Given the description of an element on the screen output the (x, y) to click on. 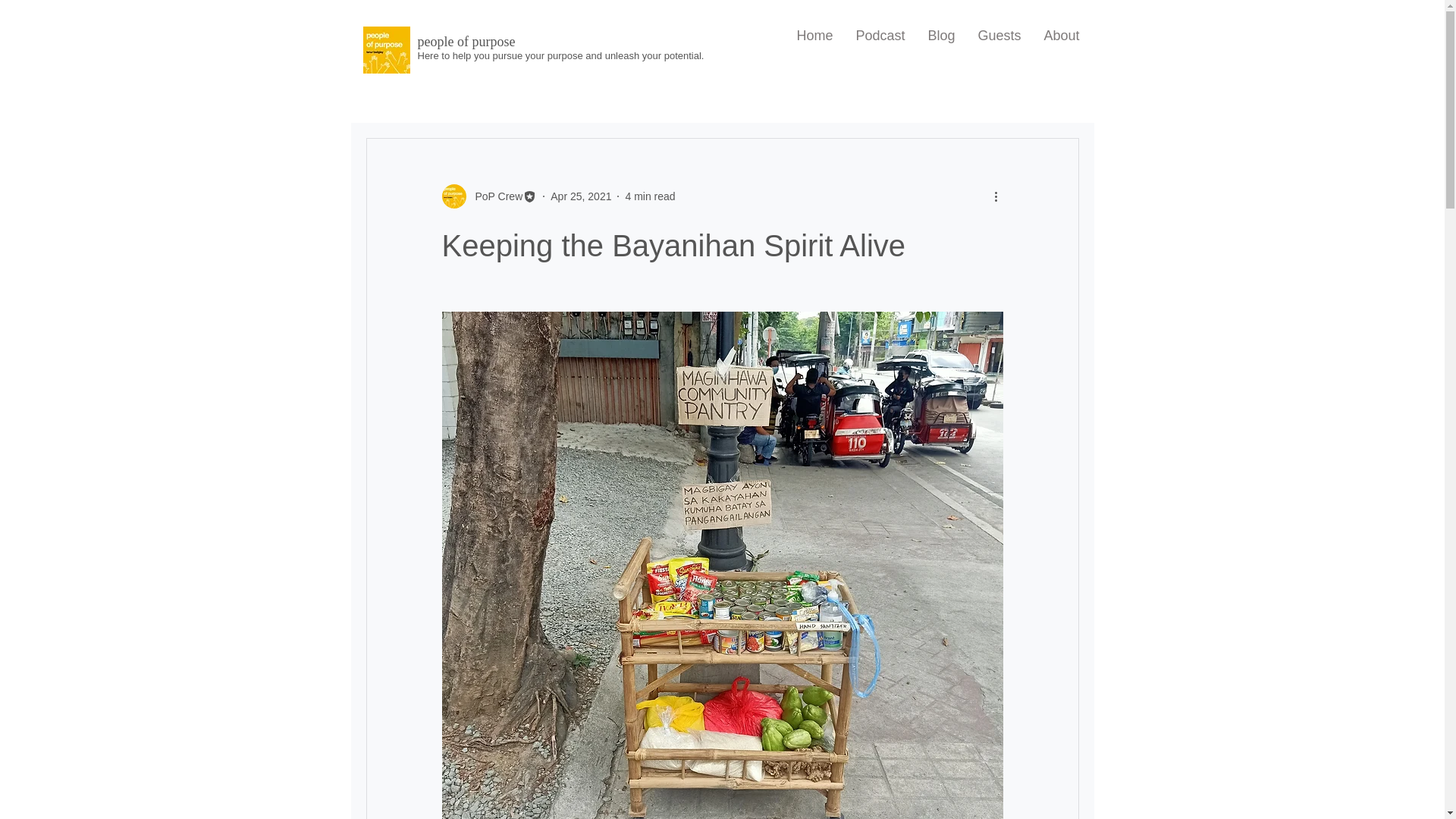
people of purpose (465, 41)
Apr 25, 2021 (580, 195)
Guests (999, 35)
Podcast (880, 35)
Blog (940, 35)
PoP Crew (493, 195)
4 min read (649, 195)
Home (815, 35)
About (1061, 35)
